Given the description of an element on the screen output the (x, y) to click on. 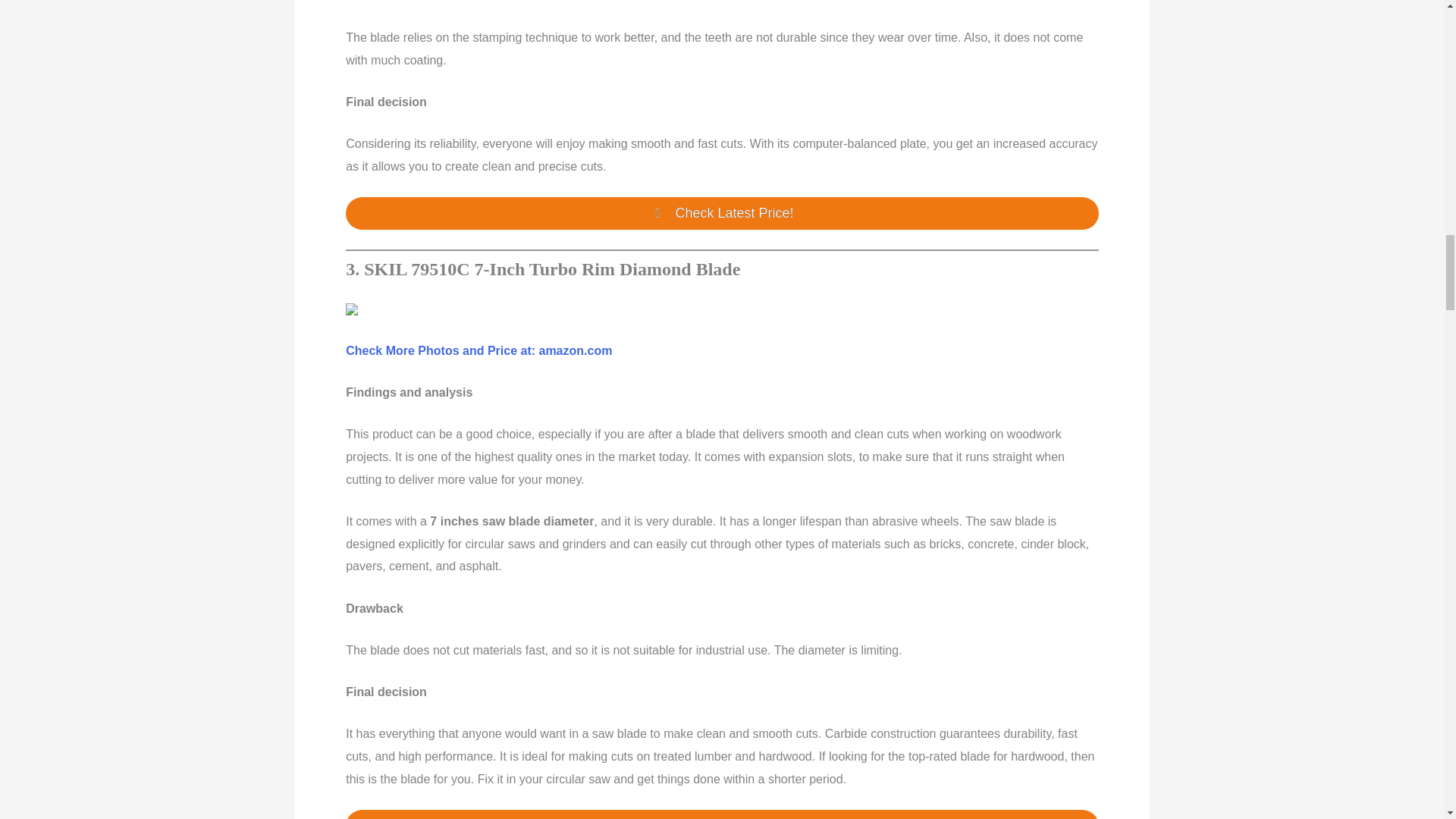
Check Latest Price! (722, 213)
Check Latest Price! (722, 814)
Check More Photos and Price at: amazon.com (478, 350)
